Given the description of an element on the screen output the (x, y) to click on. 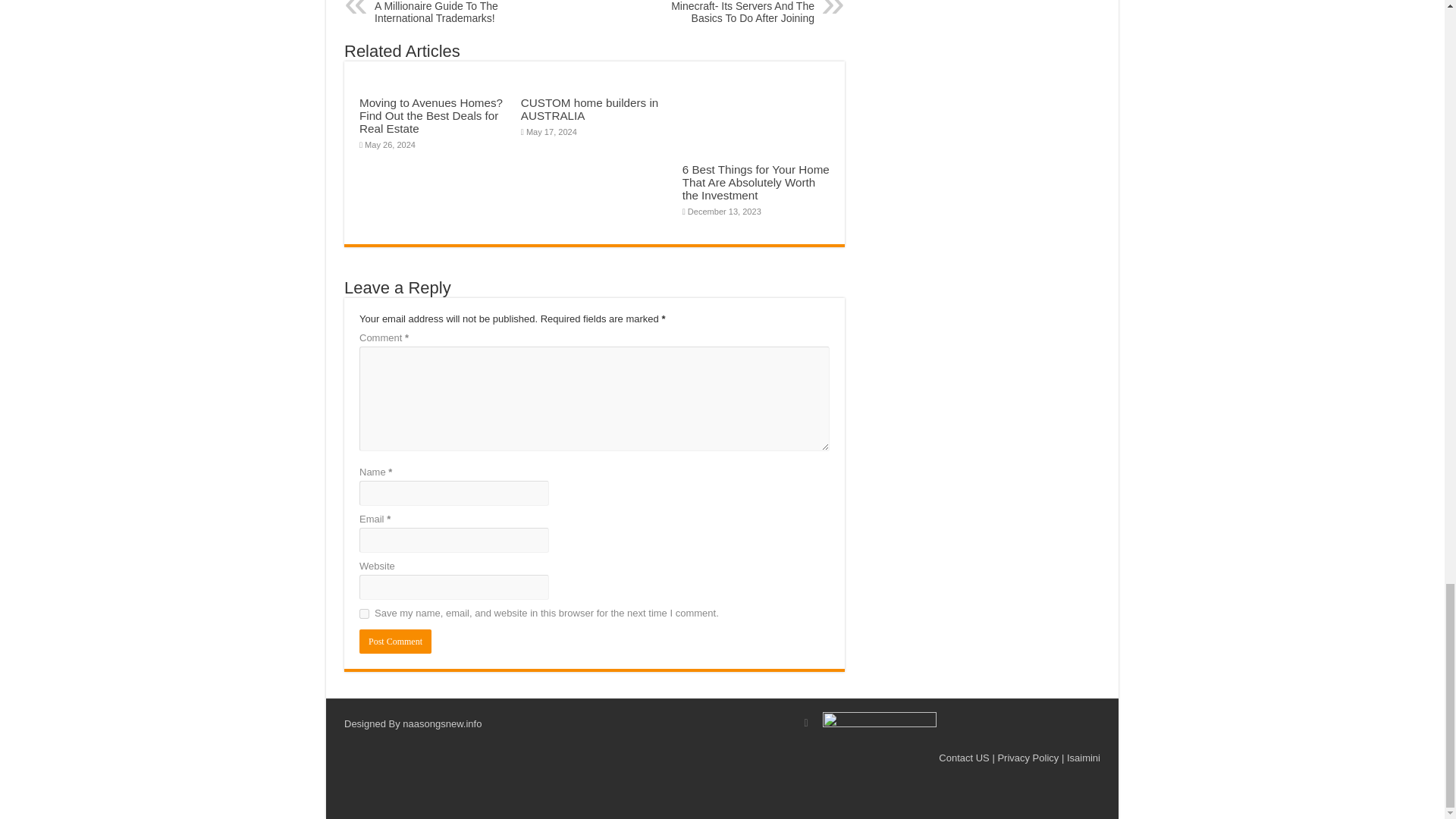
Post Comment (394, 641)
yes (364, 614)
CUSTOM home builders in AUSTRALIA (589, 109)
Rss (806, 723)
